Given the description of an element on the screen output the (x, y) to click on. 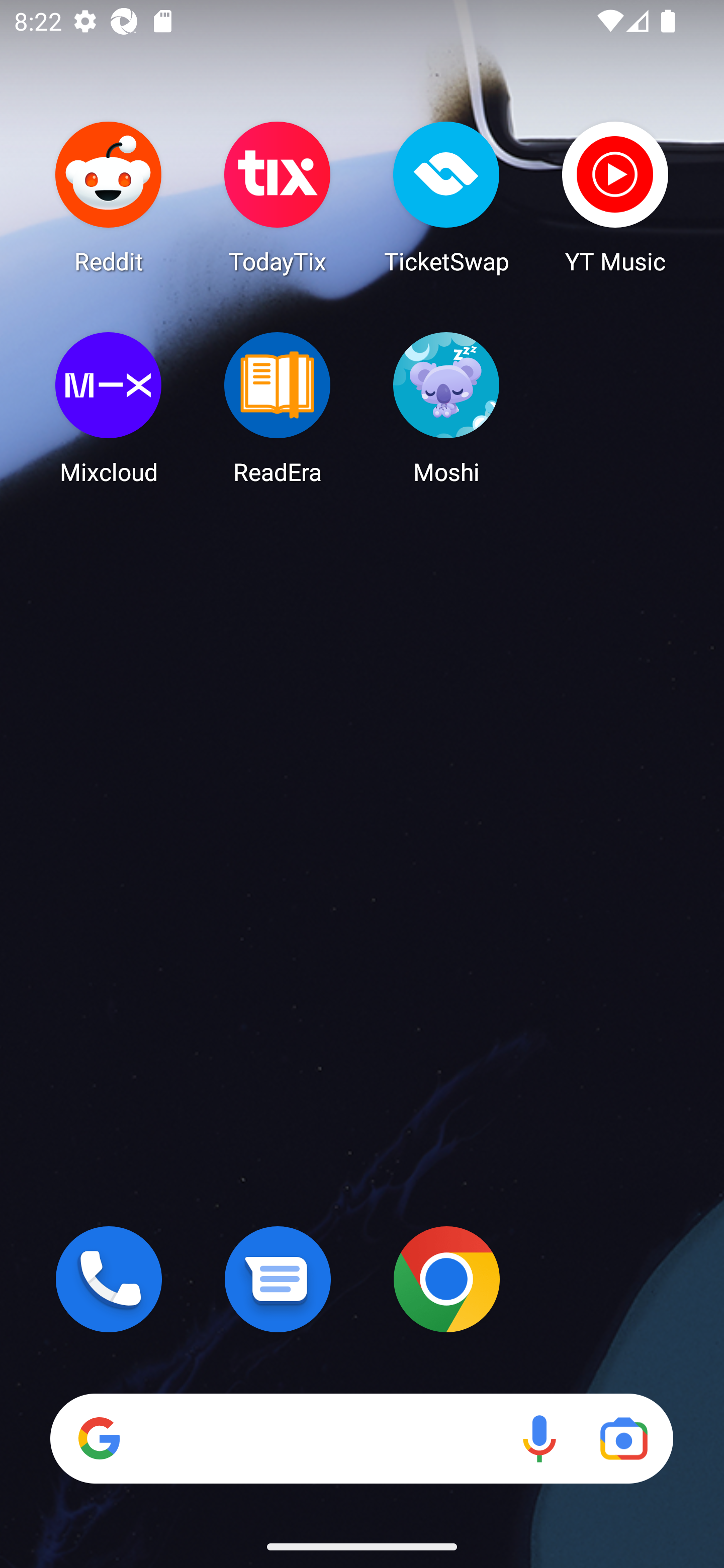
Reddit (108, 196)
TodayTix (277, 196)
TicketSwap (445, 196)
YT Music (615, 196)
Mixcloud (108, 407)
ReadEra (277, 407)
Moshi (445, 407)
Phone (108, 1279)
Messages (277, 1279)
Chrome (446, 1279)
Voice search (539, 1438)
Google Lens (623, 1438)
